Given the description of an element on the screen output the (x, y) to click on. 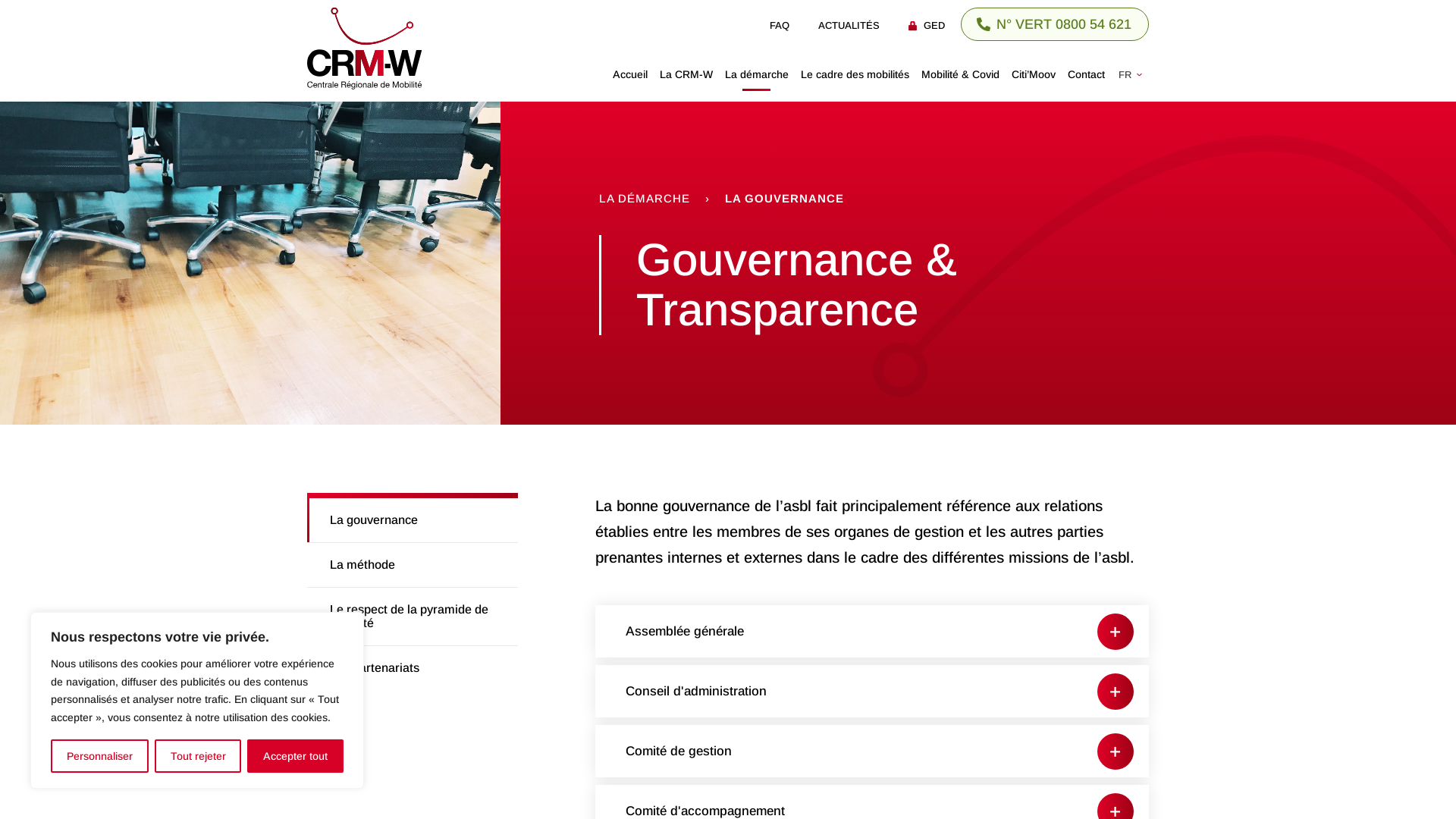
FAQ Element type: text (779, 25)
Accepter tout Element type: text (295, 755)
Conseil d'administration Element type: text (871, 691)
Les partenariats Element type: text (412, 668)
La gouvernance Element type: text (412, 520)
Personnaliser Element type: text (99, 755)
Contact Element type: text (1085, 74)
Accueil Element type: text (629, 74)
FR Element type: text (1133, 74)
GED Element type: text (926, 25)
La CRM-W Element type: text (685, 74)
Tout rejeter Element type: text (197, 755)
